Given the description of an element on the screen output the (x, y) to click on. 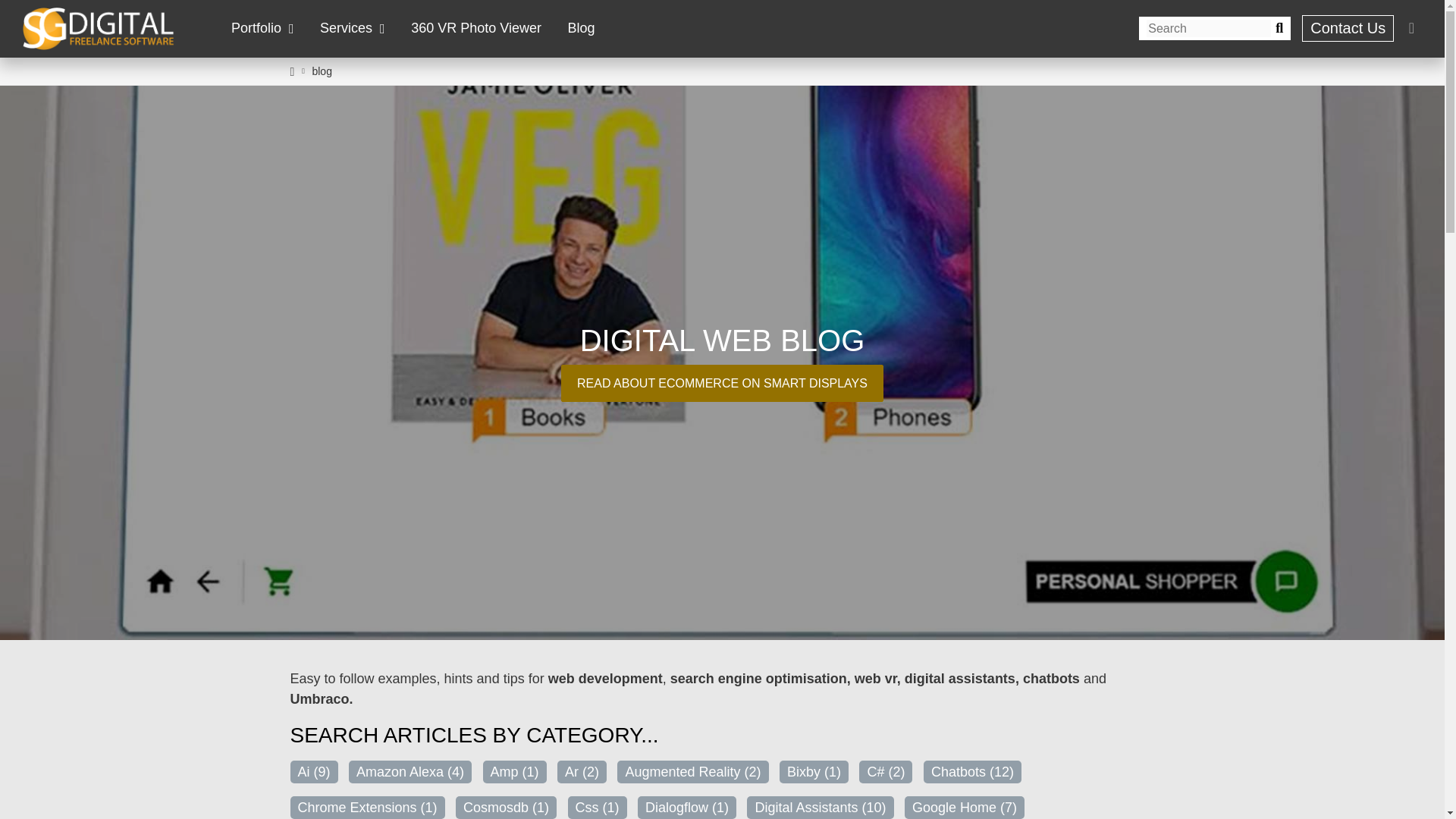
Contact Us (1347, 28)
Get in Touch (1347, 28)
Click to view articles for cosmosdb (505, 807)
Click to view articles for digital assistants (819, 807)
SG Digital Home (98, 28)
Click to view articles for chrome extensions (366, 807)
Click to view articles for chatbots (972, 771)
Click to view articles for dialogflow (686, 807)
Click to view articles for amazon alexa (410, 771)
Click to view articles for augmented reality (692, 771)
Blog (580, 27)
Click to view articles for bixby (813, 771)
Click to view articles for amp (513, 771)
READ ABOUT ECOMMERCE ON SMART DISPLAYS (721, 383)
Portfolio (262, 27)
